Given the description of an element on the screen output the (x, y) to click on. 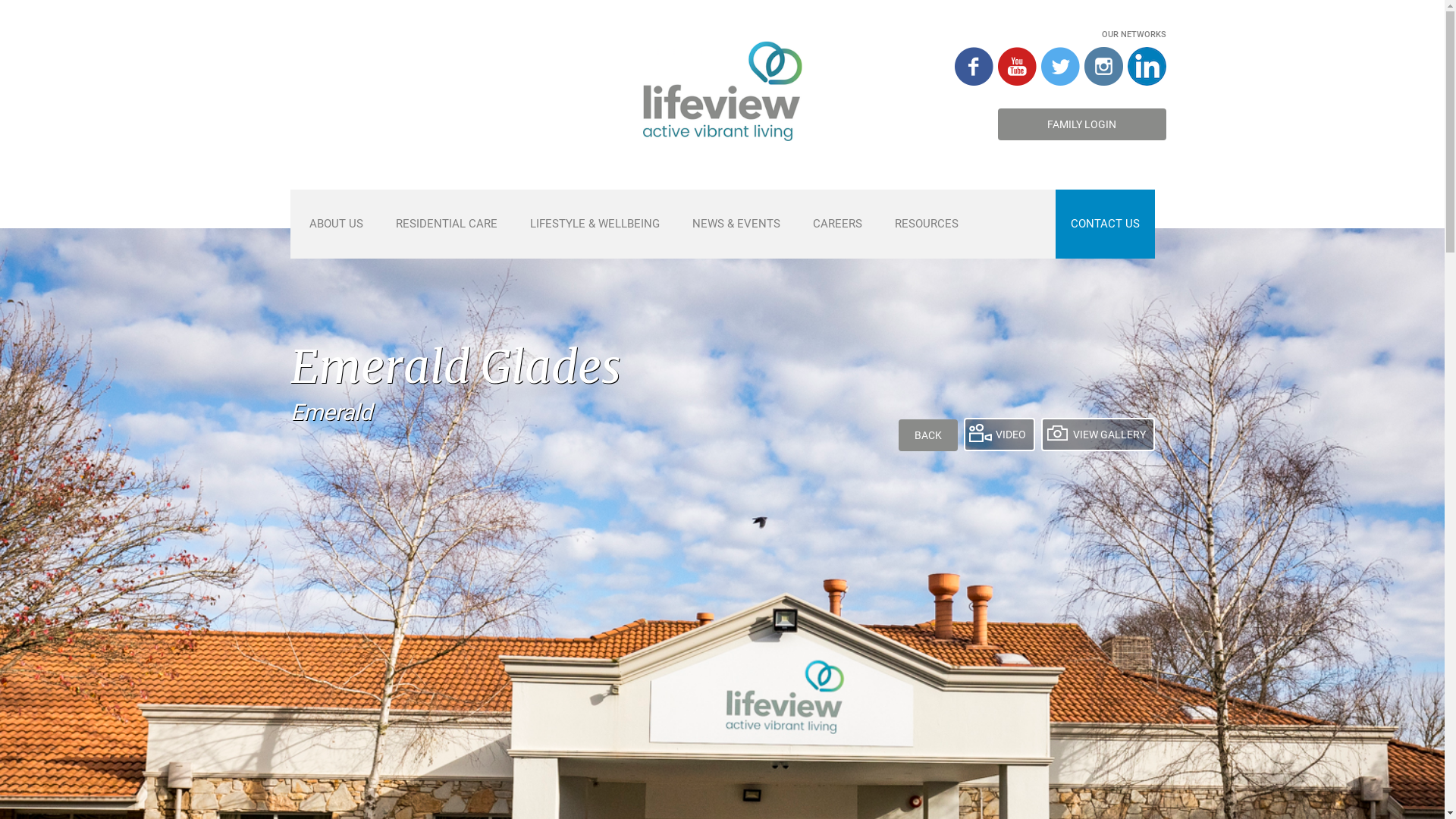
LIFESTYLE & WELLBEING Element type: text (594, 223)
VIDEO Element type: text (998, 434)
BACK Element type: text (927, 435)
VIEW GALLERY Element type: text (1097, 434)
RESOURCES Element type: text (925, 223)
RESIDENTIAL CARE Element type: text (445, 223)
ABOUT US Element type: text (335, 223)
FAMILY LOGIN Element type: text (1081, 124)
CONTACT US Element type: text (1104, 223)
CAREERS Element type: text (836, 223)
NEWS & EVENTS Element type: text (735, 223)
